Given the description of an element on the screen output the (x, y) to click on. 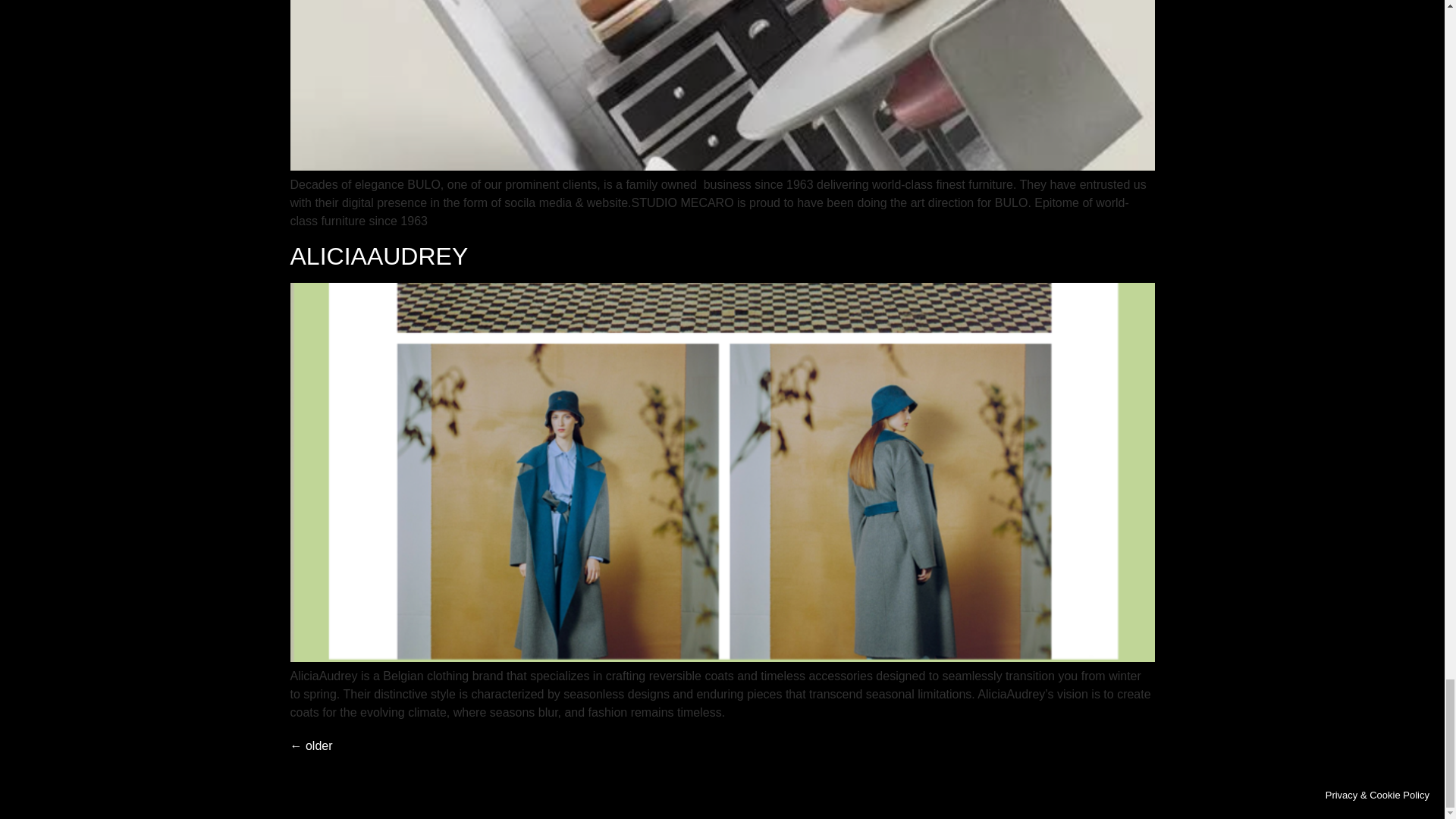
ALICIAAUDREY (378, 256)
